Given the description of an element on the screen output the (x, y) to click on. 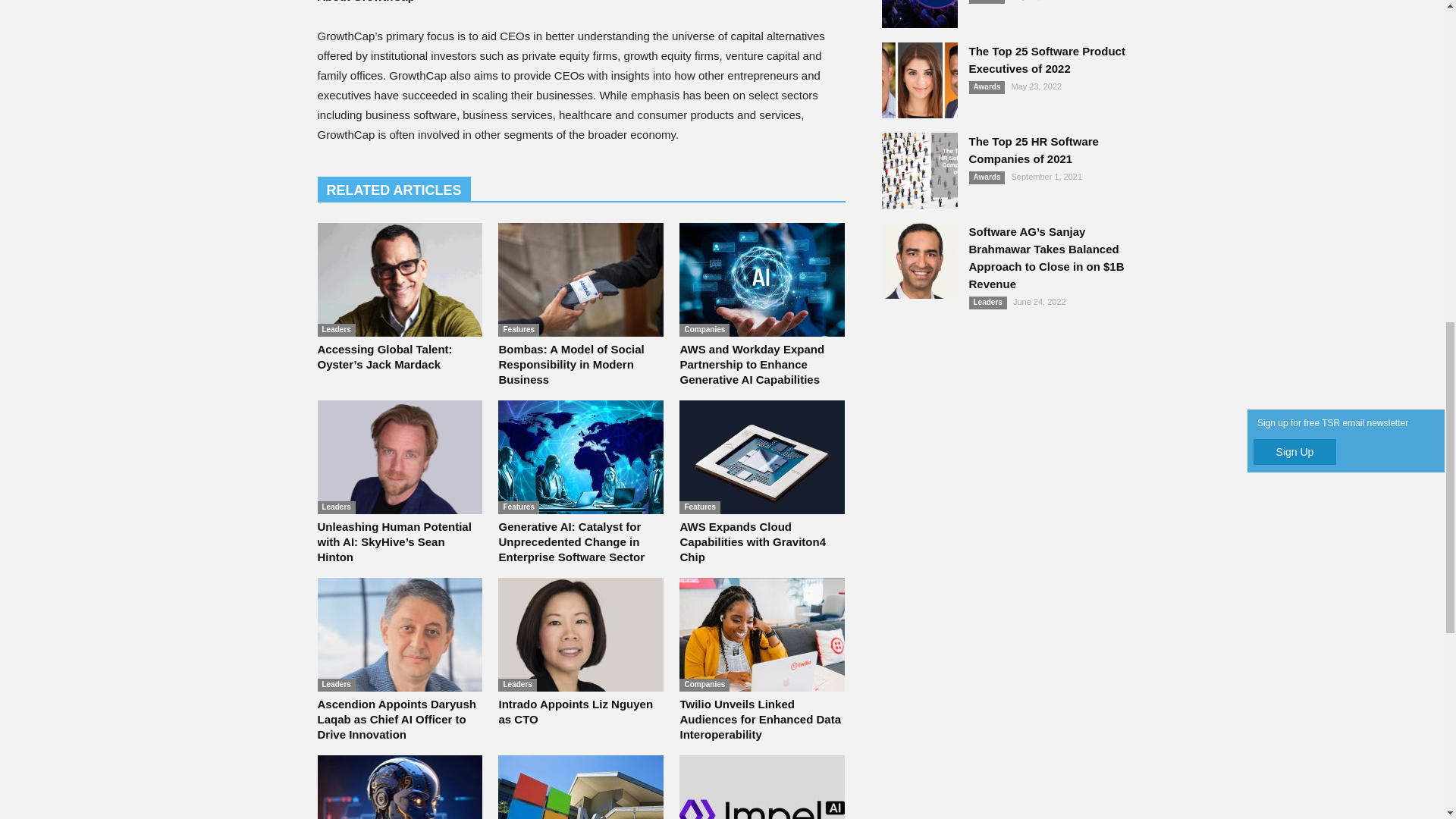
Bombas: A Model of Social Responsibility in Modern Business (580, 279)
Bombas: A Model of Social Responsibility in Modern Business (570, 364)
